Given the description of an element on the screen output the (x, y) to click on. 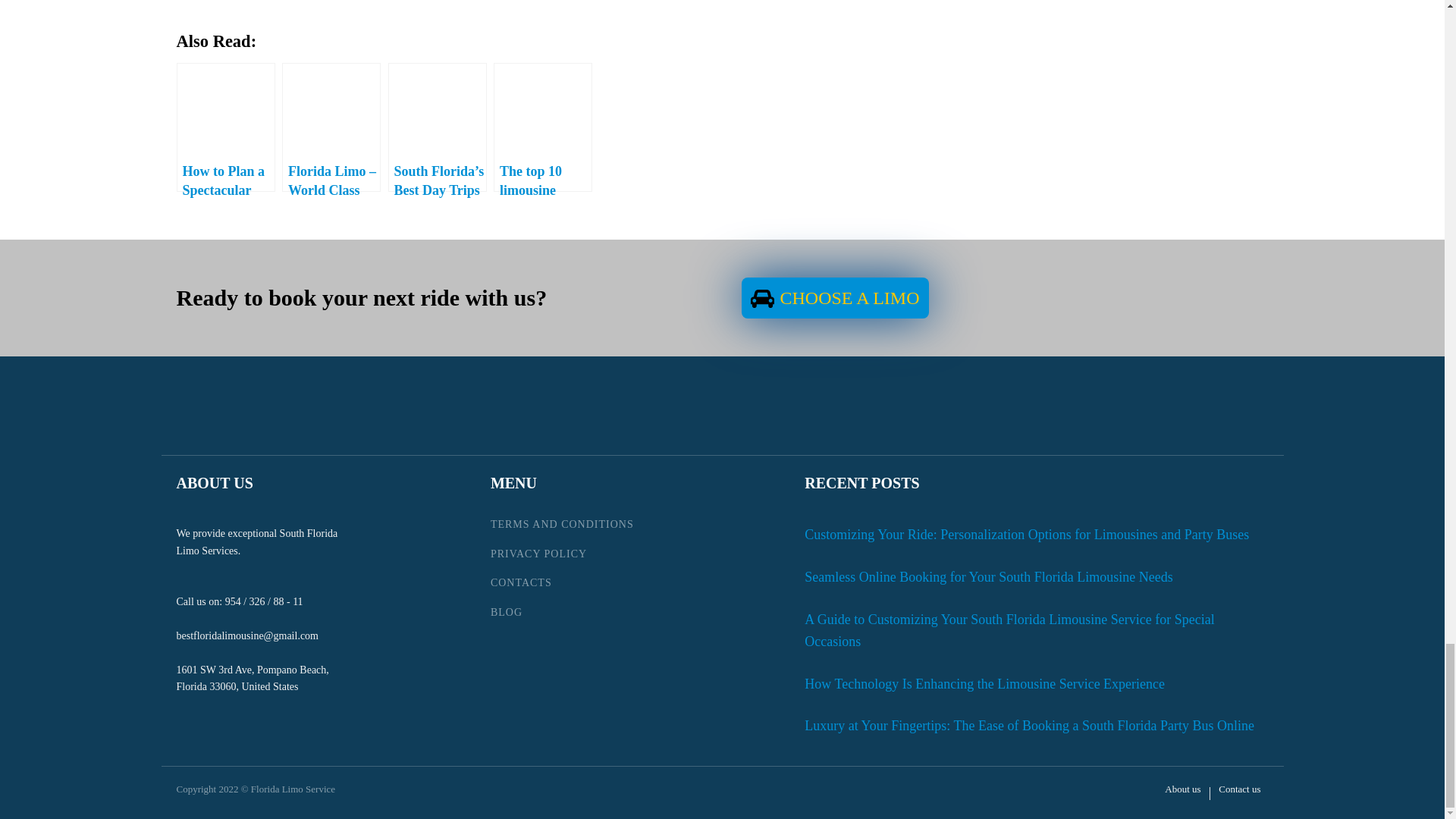
PRIVACY POLICY (561, 553)
BLOG (561, 612)
2024 039 S Top Limousine Picks For Corporate Holiday Parties (331, 112)
2024 039 S Top Limousine Picks For Corporate Holiday Parties (543, 112)
CONTACTS (561, 582)
TERMS AND CONDITIONS (561, 524)
CHOOSE A LIMO (834, 297)
2024 039 S Top Limousine Picks For Corporate Holiday Parties (438, 112)
2024 039 S Top Limousine Picks For Corporate Holiday Parties (225, 112)
Logo (251, 401)
